Given the description of an element on the screen output the (x, y) to click on. 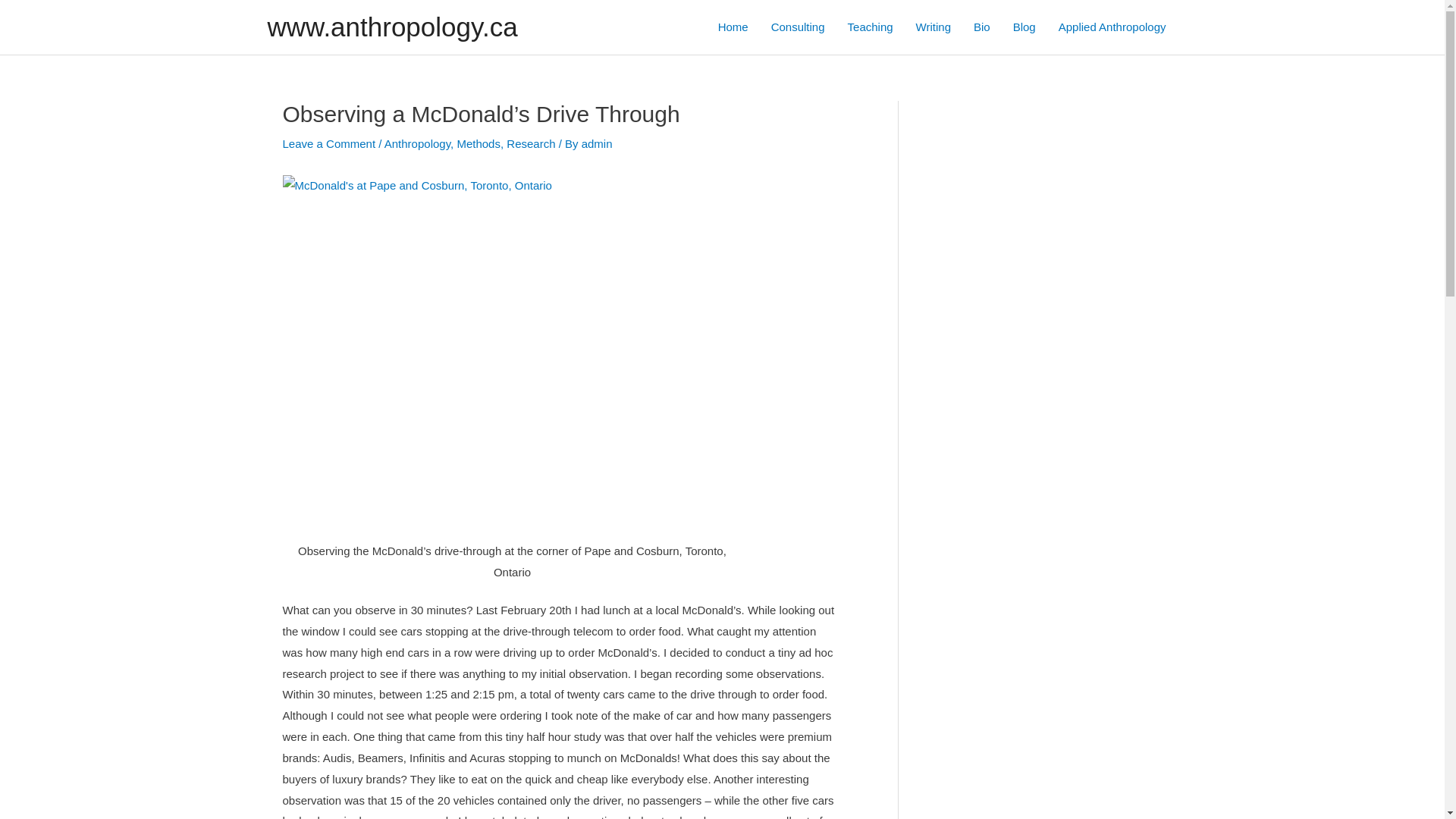
Blog Element type: text (1024, 26)
www.anthropology.ca Element type: text (391, 26)
Research Element type: text (530, 143)
Writing Element type: text (933, 26)
Methods Element type: text (478, 143)
Applied Anthropology Element type: text (1112, 26)
Anthropology Element type: text (417, 143)
Teaching Element type: text (870, 26)
Home Element type: text (732, 26)
Consulting Element type: text (797, 26)
admin Element type: text (596, 143)
Leave a Comment Element type: text (328, 143)
Bio Element type: text (981, 26)
